Given the description of an element on the screen output the (x, y) to click on. 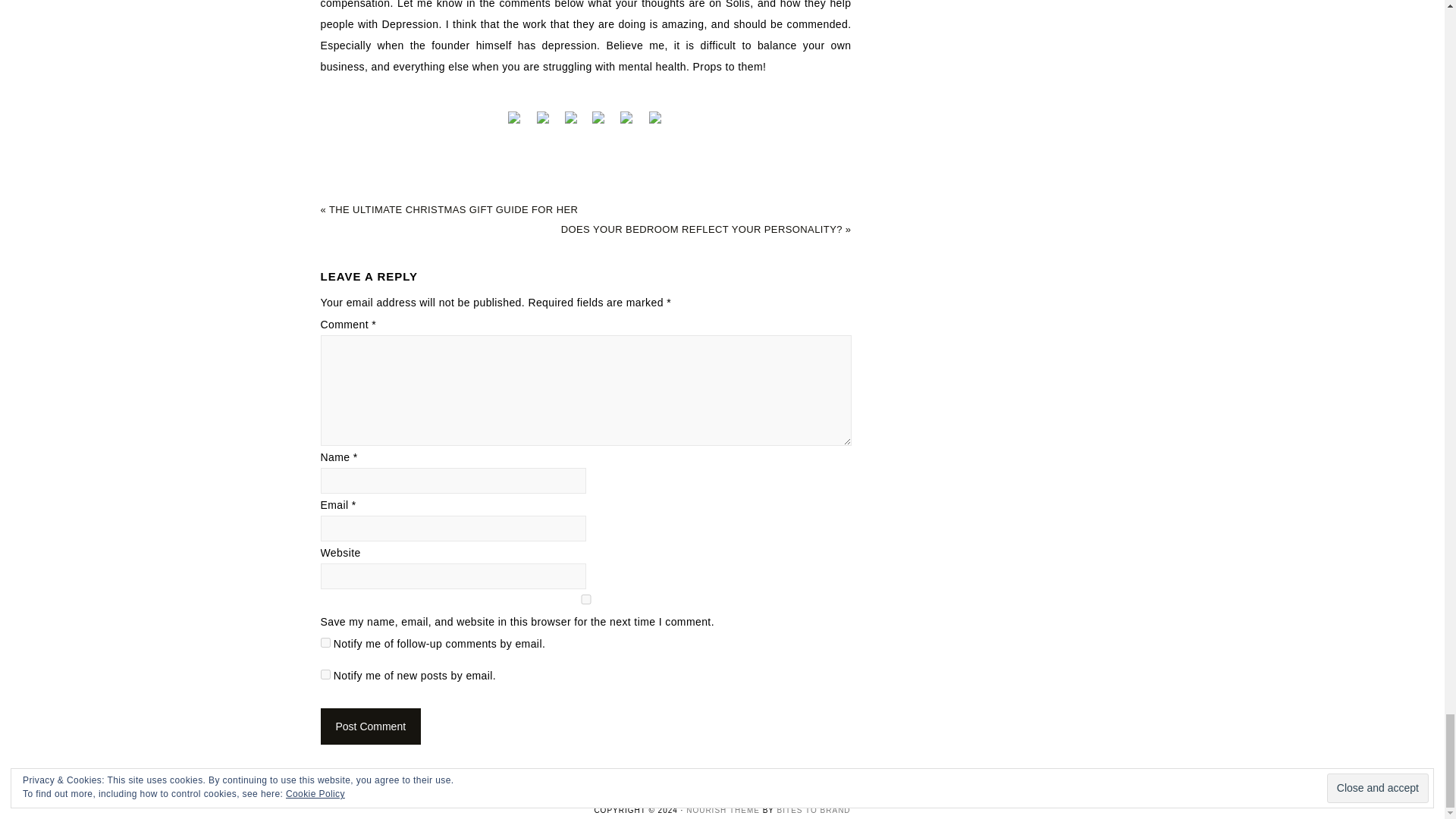
subscribe (325, 642)
NOURISH THEME (722, 809)
Post Comment (370, 726)
Post Comment (370, 726)
Share On Facebook (515, 117)
Share on Linkedin (627, 123)
subscribe (325, 674)
yes (585, 599)
Pin it with Pinterest (599, 117)
Share on Linkedin (627, 117)
